Given the description of an element on the screen output the (x, y) to click on. 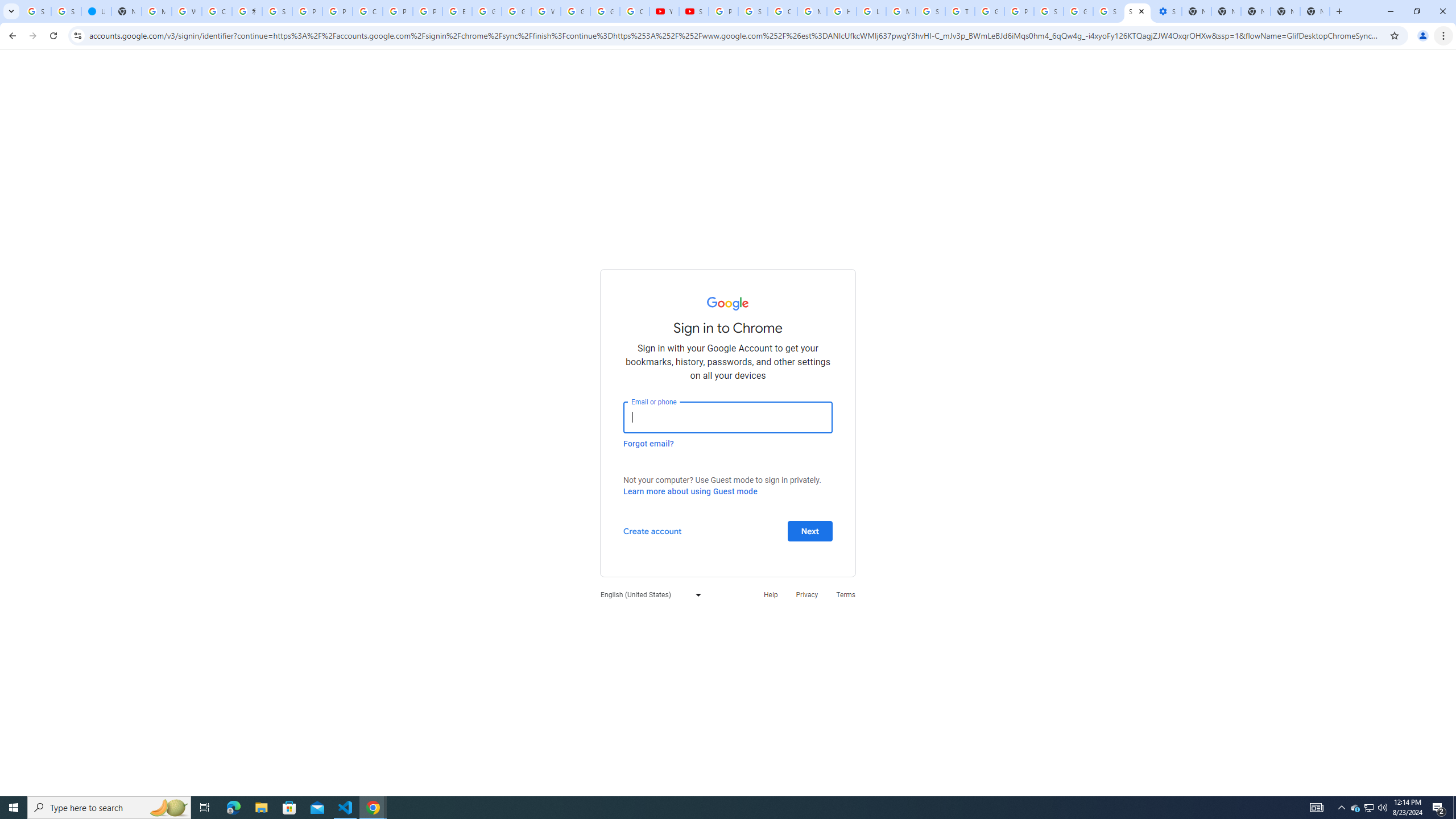
Subscriptions - YouTube (693, 11)
Google Ads - Sign in (989, 11)
Search our Doodle Library Collection - Google Doodles (930, 11)
